Given the description of an element on the screen output the (x, y) to click on. 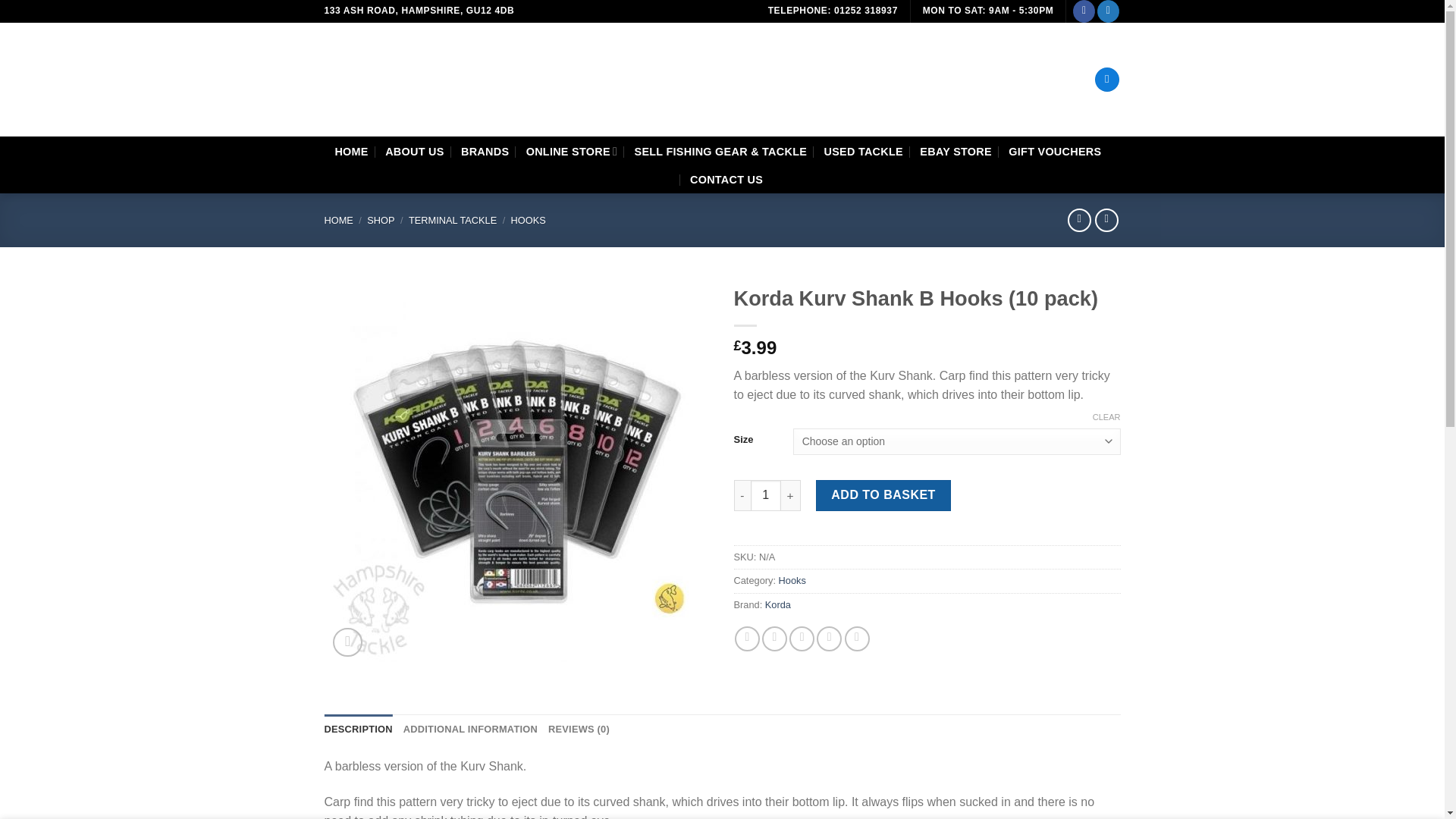
Qty (765, 494)
BRANDS (484, 151)
1 (765, 494)
LOGIN (1050, 79)
SHOP (380, 220)
GIFT VOUCHERS (1054, 151)
CONTACT US (726, 179)
Zoom (347, 642)
USED TACKLE (863, 151)
HOOKS (528, 220)
Share on Facebook (747, 638)
ONLINE STORE (571, 151)
Follow on Twitter (1108, 11)
HOME (351, 151)
Search (802, 79)
